Given the description of an element on the screen output the (x, y) to click on. 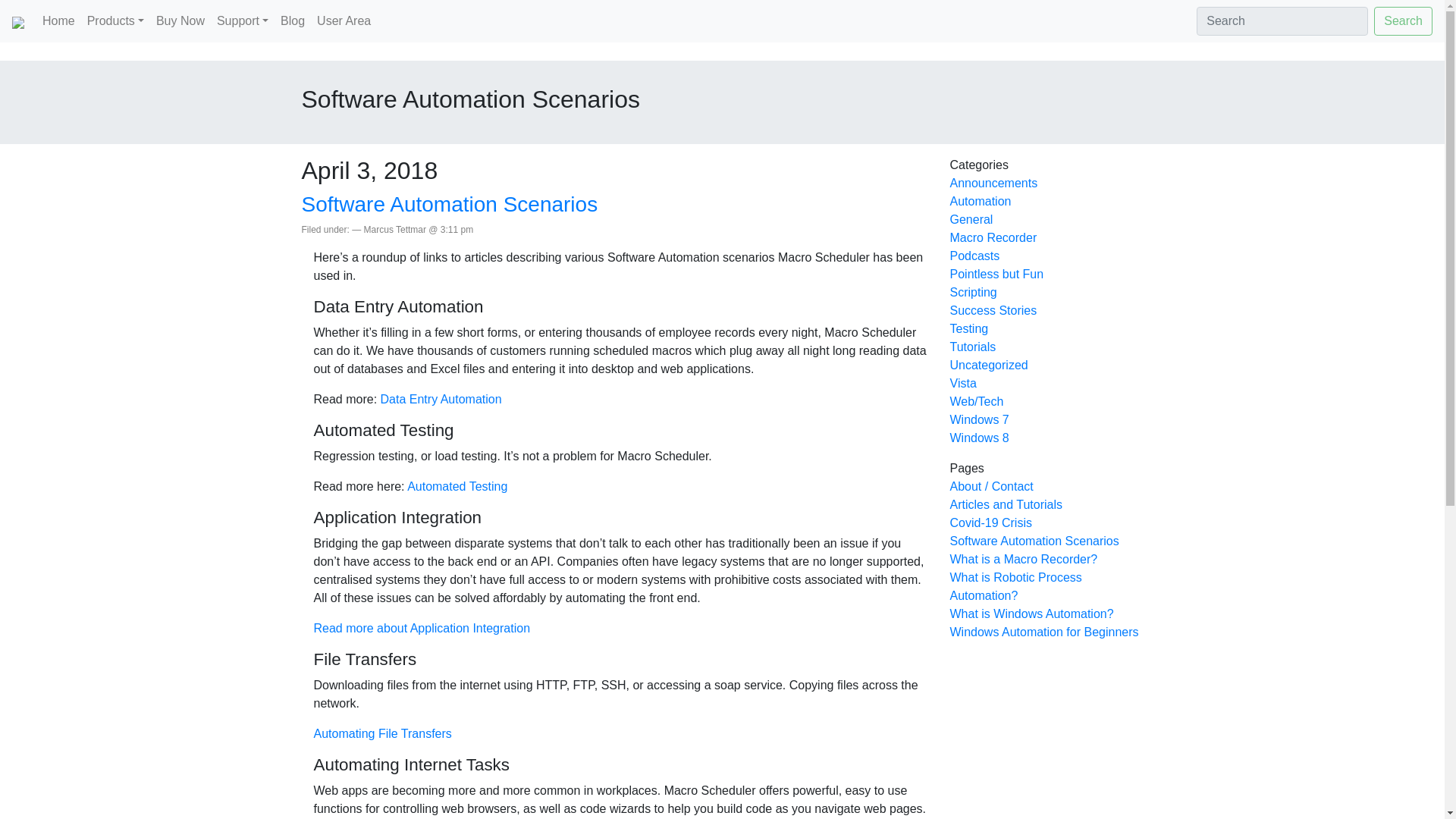
Pointless but Fun (996, 273)
General (970, 219)
Data Entry Automation (441, 399)
Tutorials (972, 346)
Uncategorized (988, 364)
Software Automation Scenarios (449, 204)
Announcements (992, 182)
Scripting (972, 291)
Podcasts (973, 255)
Blog (293, 20)
